Given the description of an element on the screen output the (x, y) to click on. 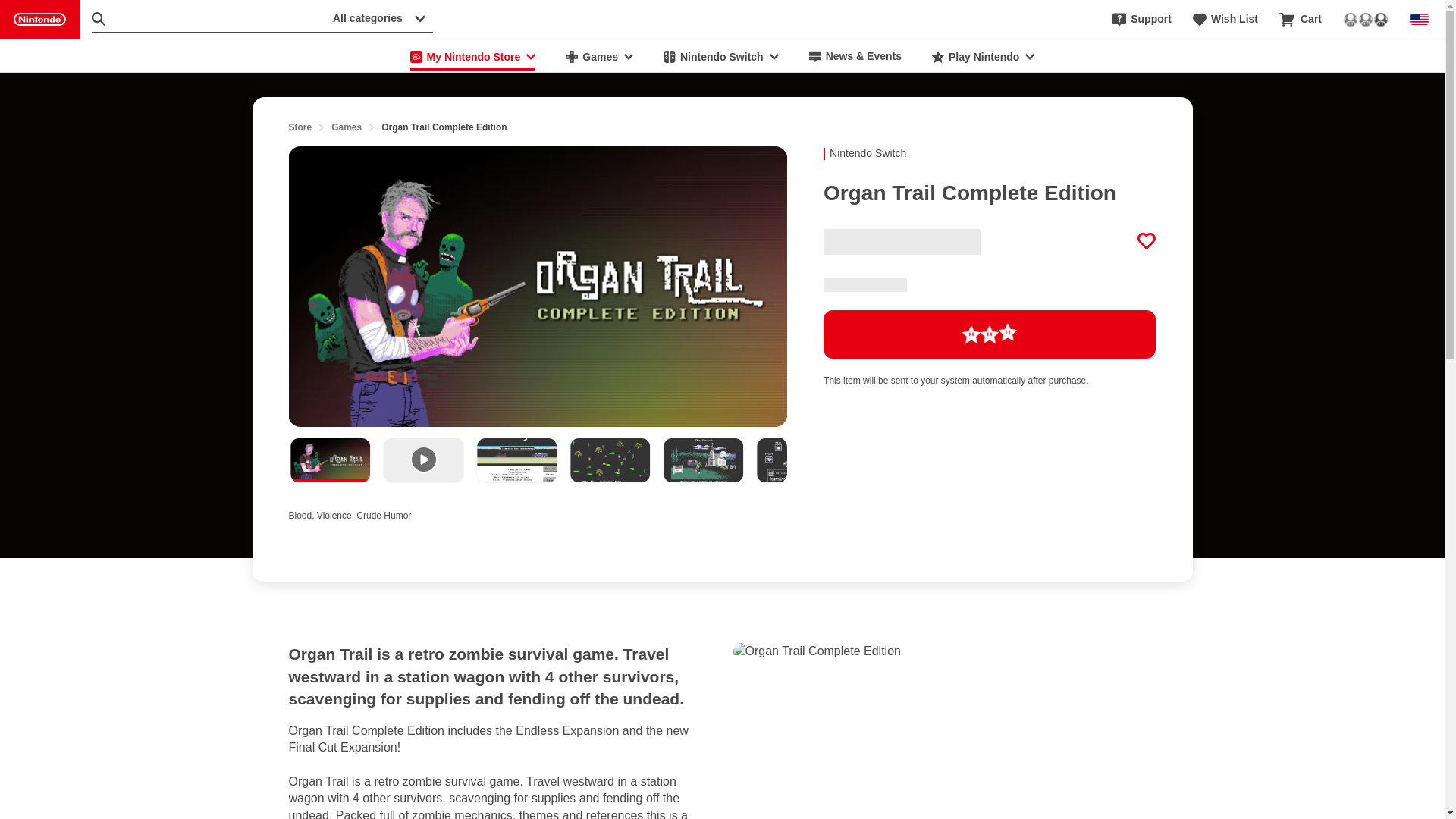
Games (599, 56)
Support (1142, 19)
Store (299, 127)
Loading (990, 334)
Nintendo (40, 19)
Nintendo Switch (720, 56)
Blood, Violence, Crude Humor (349, 513)
Games (346, 127)
My Nintendo Store (472, 56)
Add to Wish List (1146, 240)
Wish List (1224, 19)
Play Nintendo (983, 56)
Cart (1300, 19)
